Given the description of an element on the screen output the (x, y) to click on. 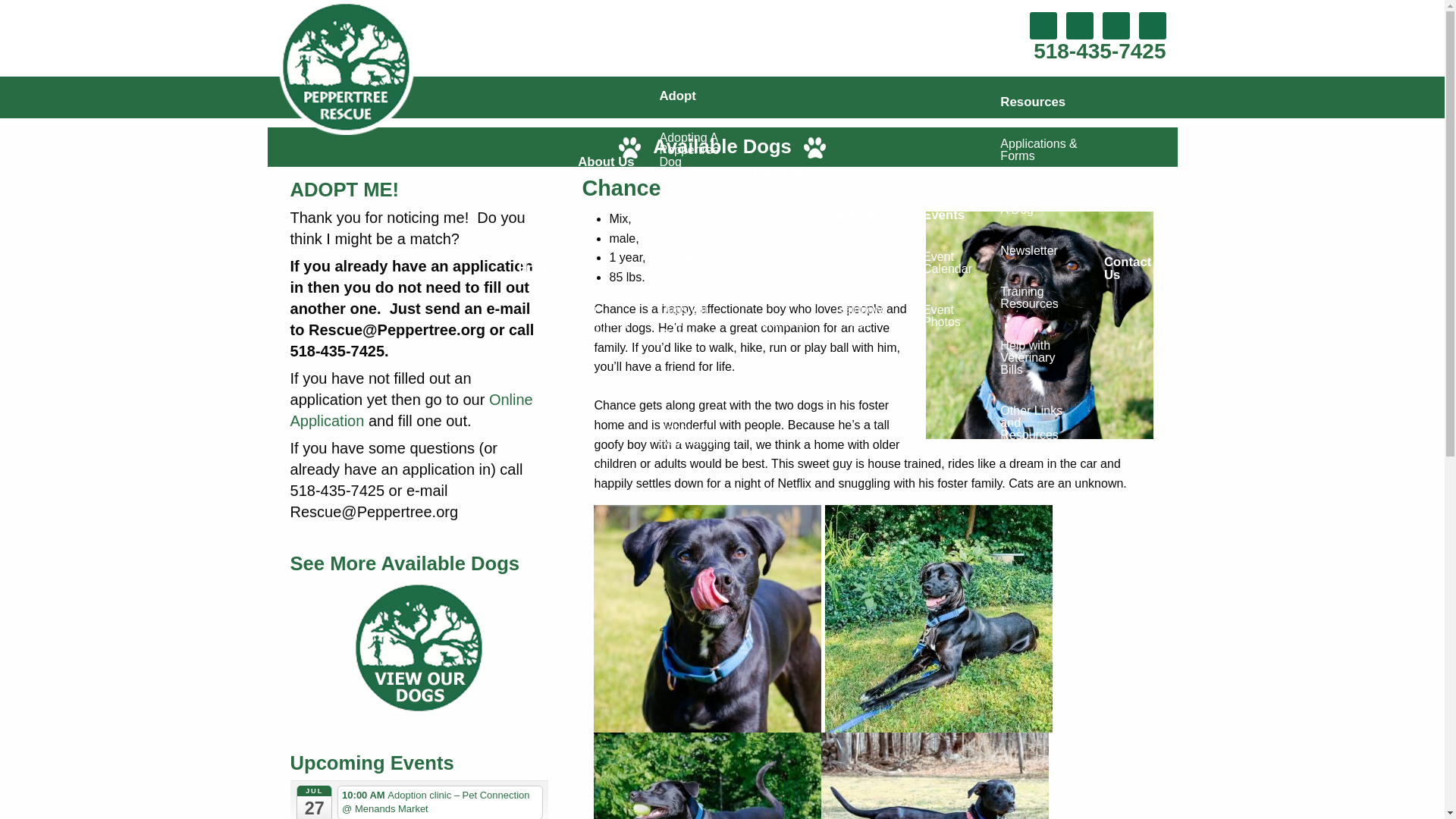
Home (536, 268)
